Given the description of an element on the screen output the (x, y) to click on. 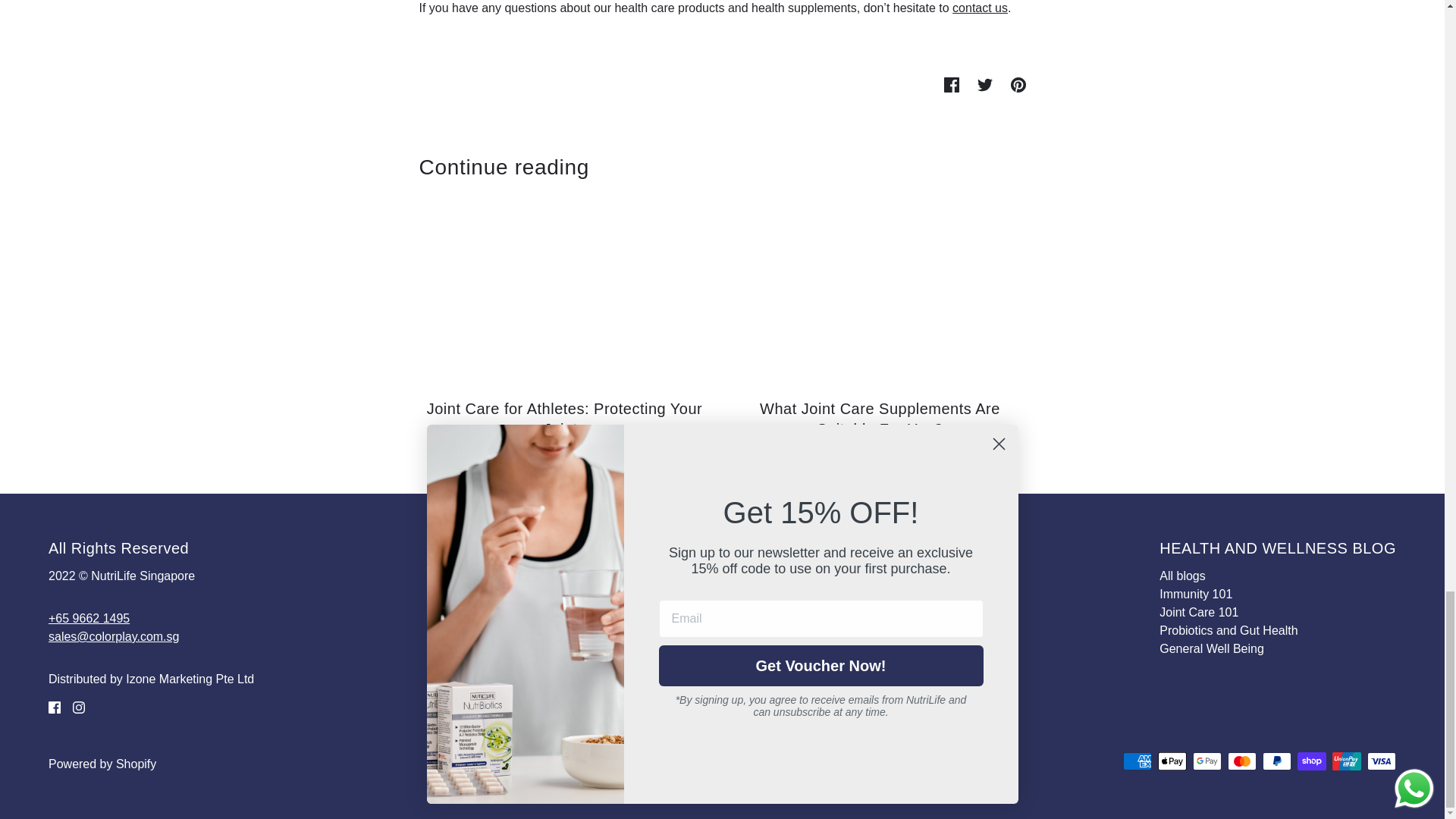
Terms and Conditions (747, 648)
Shipping and Returns (746, 612)
Mastercard (1241, 761)
Contact Us (718, 666)
Expert Articles (726, 684)
Privacy Policy (726, 630)
Probiotics and Gut Health (1227, 630)
General Well Being (1210, 648)
American Express (1136, 761)
Apple Pay (1171, 761)
Shop Pay (1311, 761)
Google Pay (1206, 761)
Brightening Supplements (756, 594)
PayPal (1276, 761)
All blogs (1181, 575)
